Given the description of an element on the screen output the (x, y) to click on. 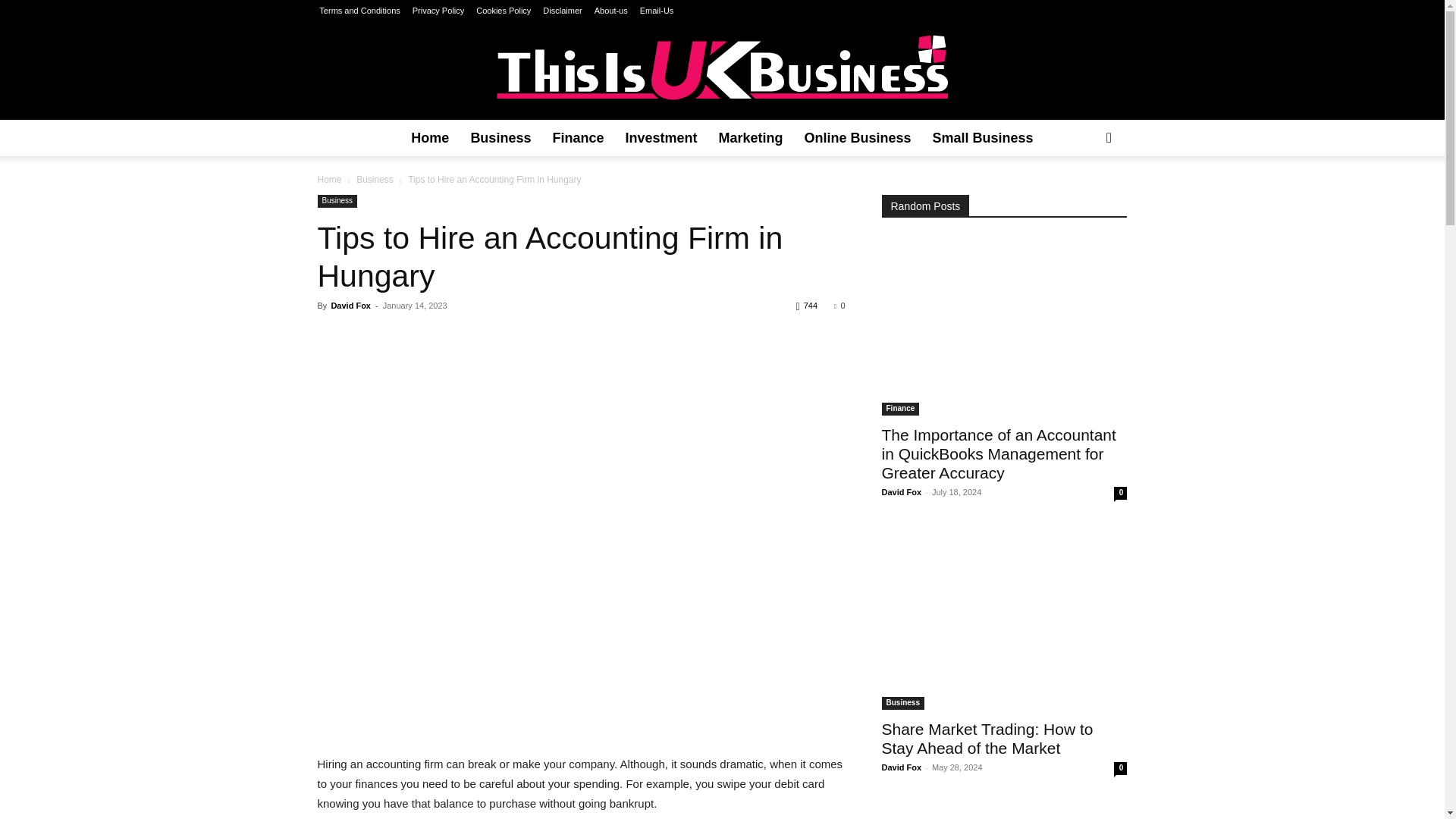
Business (500, 137)
Marketing (750, 137)
David Fox (350, 305)
View all posts in Business (374, 179)
Home (430, 137)
Investment (660, 137)
Business (374, 179)
Cookies Policy (503, 10)
Email-Us (657, 10)
0 (839, 305)
Search (1085, 198)
Home (328, 179)
About-us (610, 10)
Business (336, 201)
Small Business (982, 137)
